Given the description of an element on the screen output the (x, y) to click on. 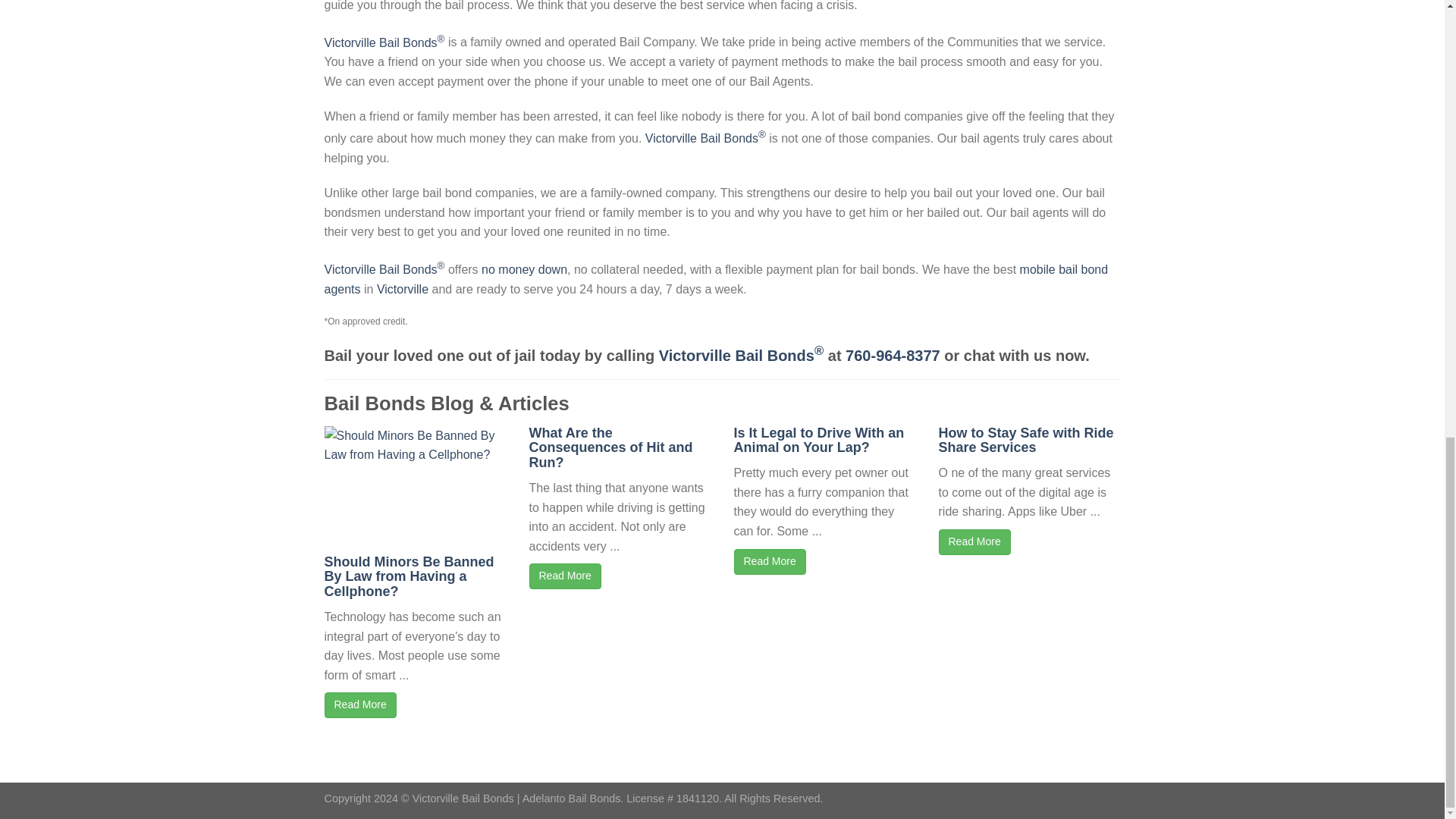
Victorville Bail Bonds (384, 42)
Victorville Bail Bond Store (892, 355)
Victorville Bail Bonds (524, 269)
Victorville Bail Bonds (741, 355)
mobile bail bond agents (716, 278)
Victorville (402, 288)
Victorville Bail Bonds (402, 288)
Victorville Bail Bonds (705, 137)
no money down (524, 269)
Victorville Bail Bonds (384, 269)
Victorville Bail Bonds (716, 278)
